Given the description of an element on the screen output the (x, y) to click on. 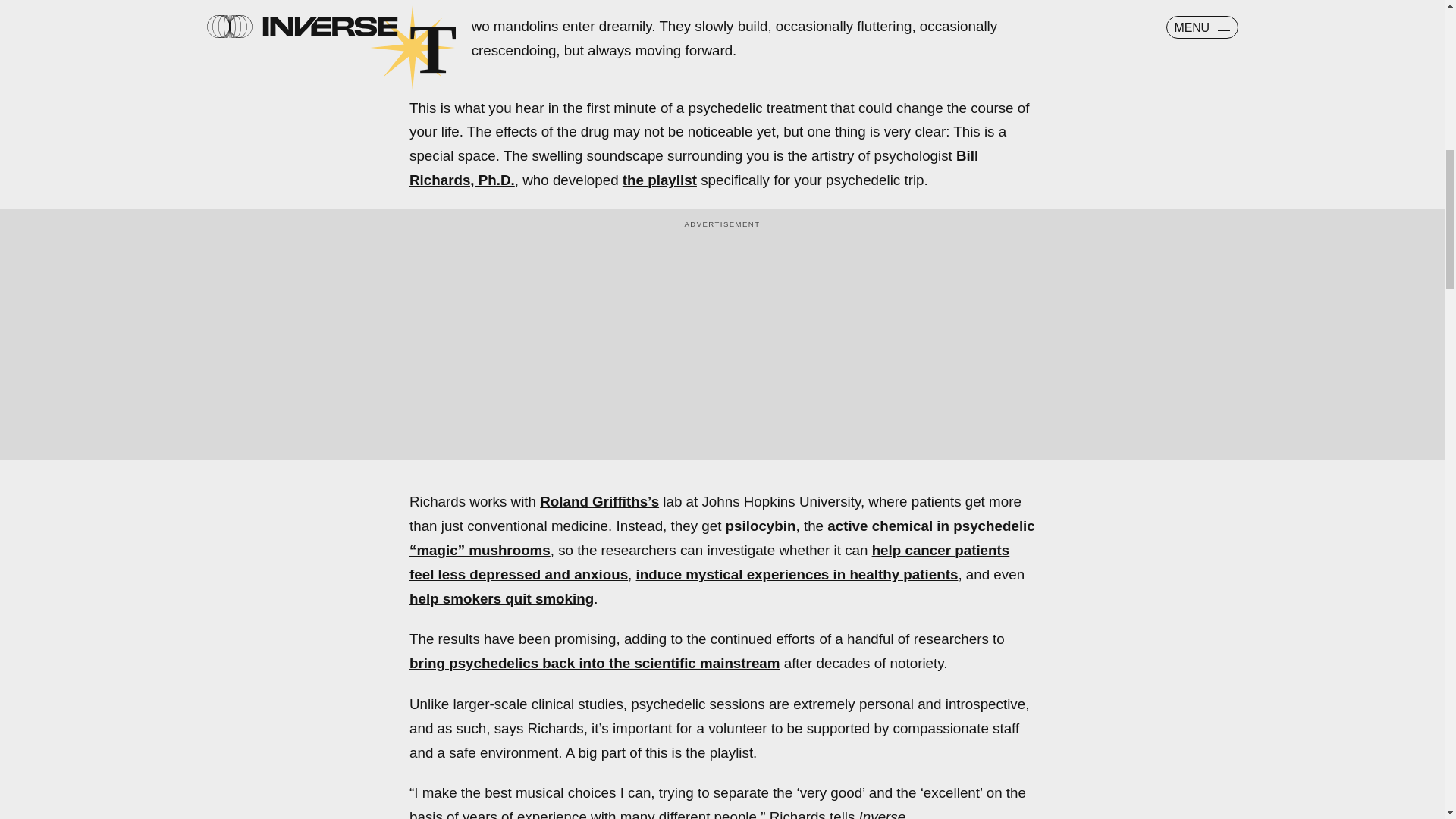
help smokers quit smoking (501, 598)
help cancer patients feel less depressed and anxious (709, 562)
induce mystical experiences in healthy patients (797, 574)
psilocybin (760, 525)
the playlist (660, 179)
bring psychedelics back into the scientific mainstream (593, 662)
Bill Richards, Ph.D. (693, 168)
